Given the description of an element on the screen output the (x, y) to click on. 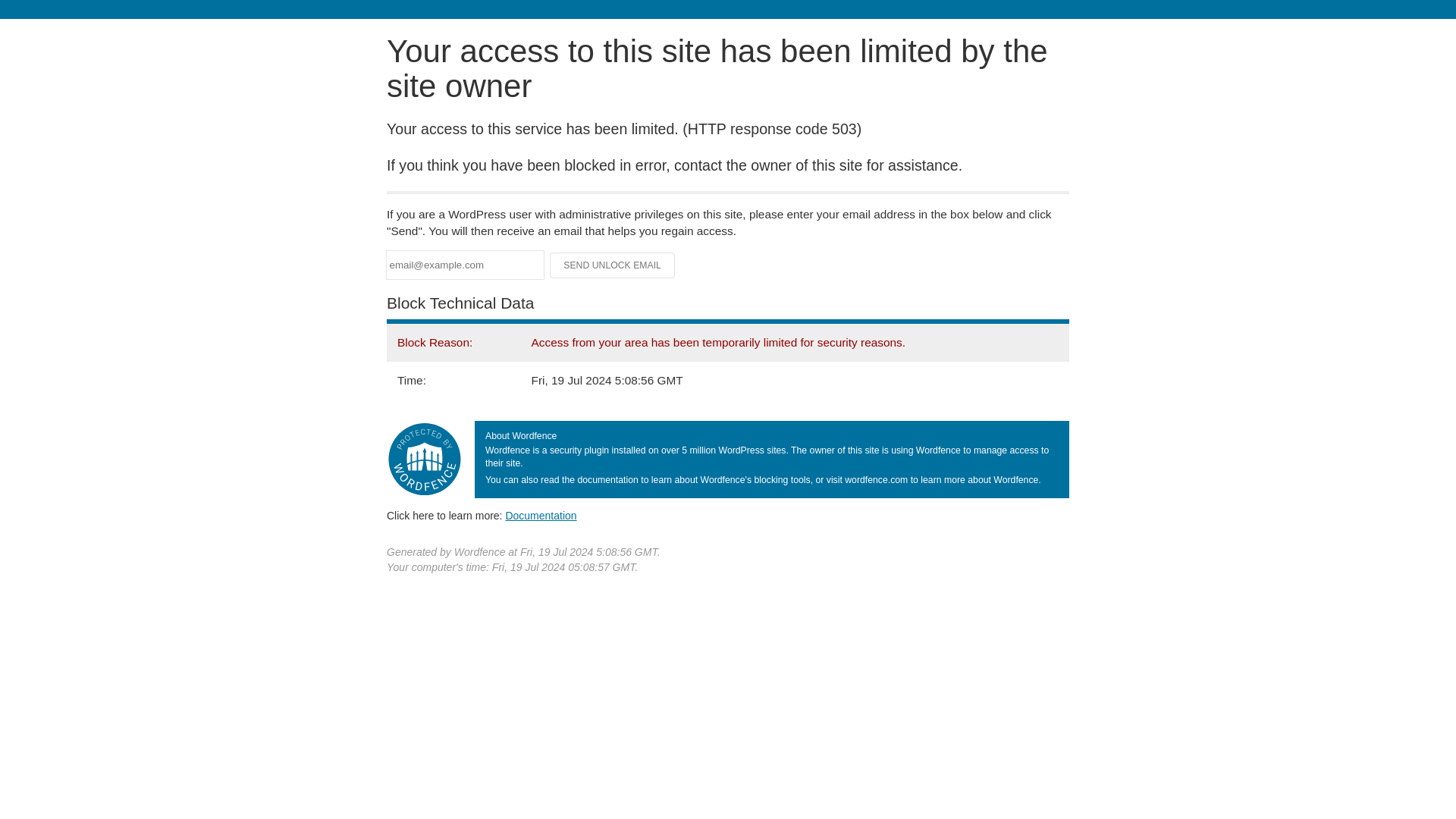
Send Unlock Email (612, 265)
Documentation (540, 515)
Send Unlock Email (612, 265)
